Given the description of an element on the screen output the (x, y) to click on. 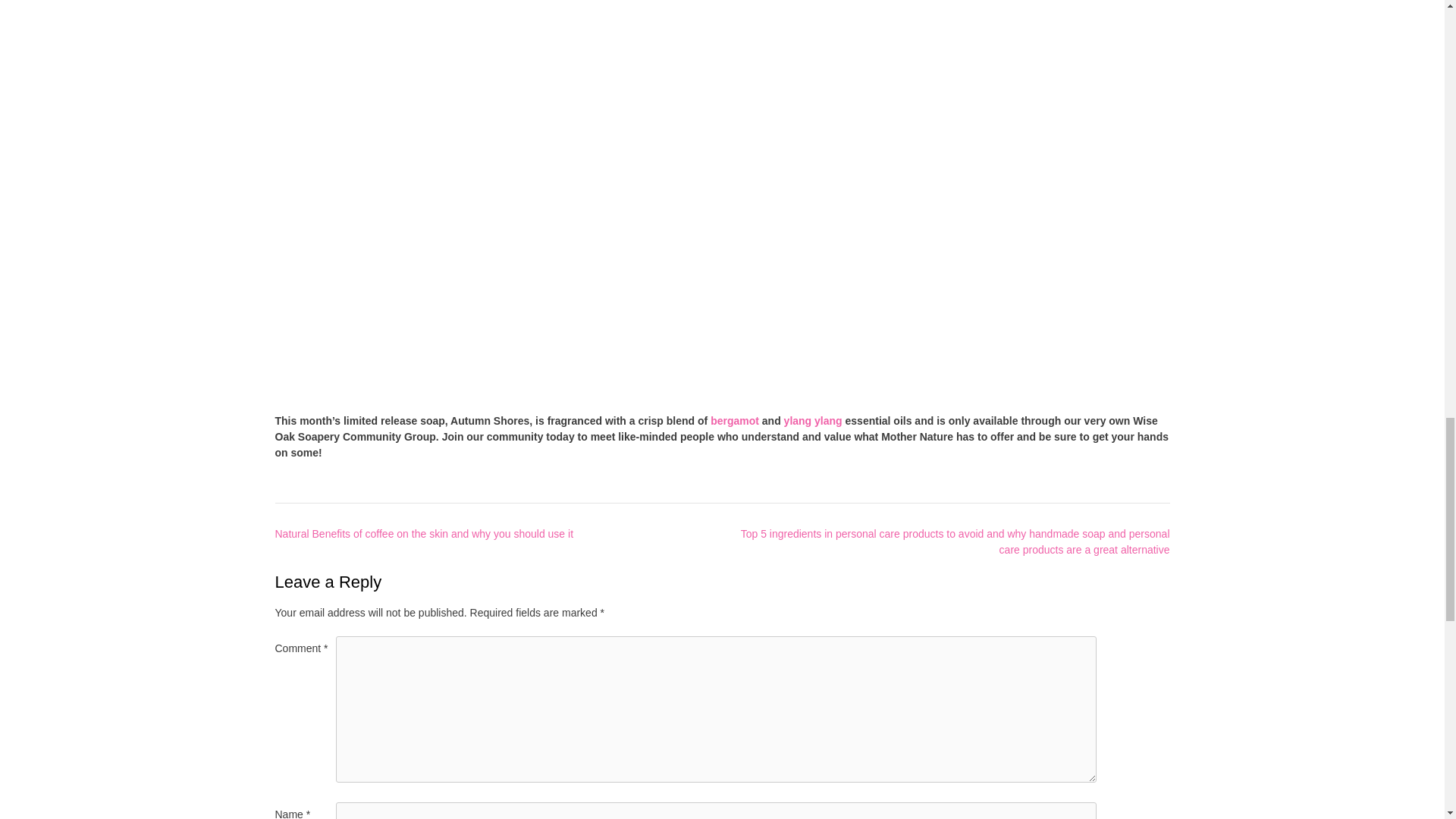
ylang ylang (813, 420)
bergamot (734, 420)
